Given the description of an element on the screen output the (x, y) to click on. 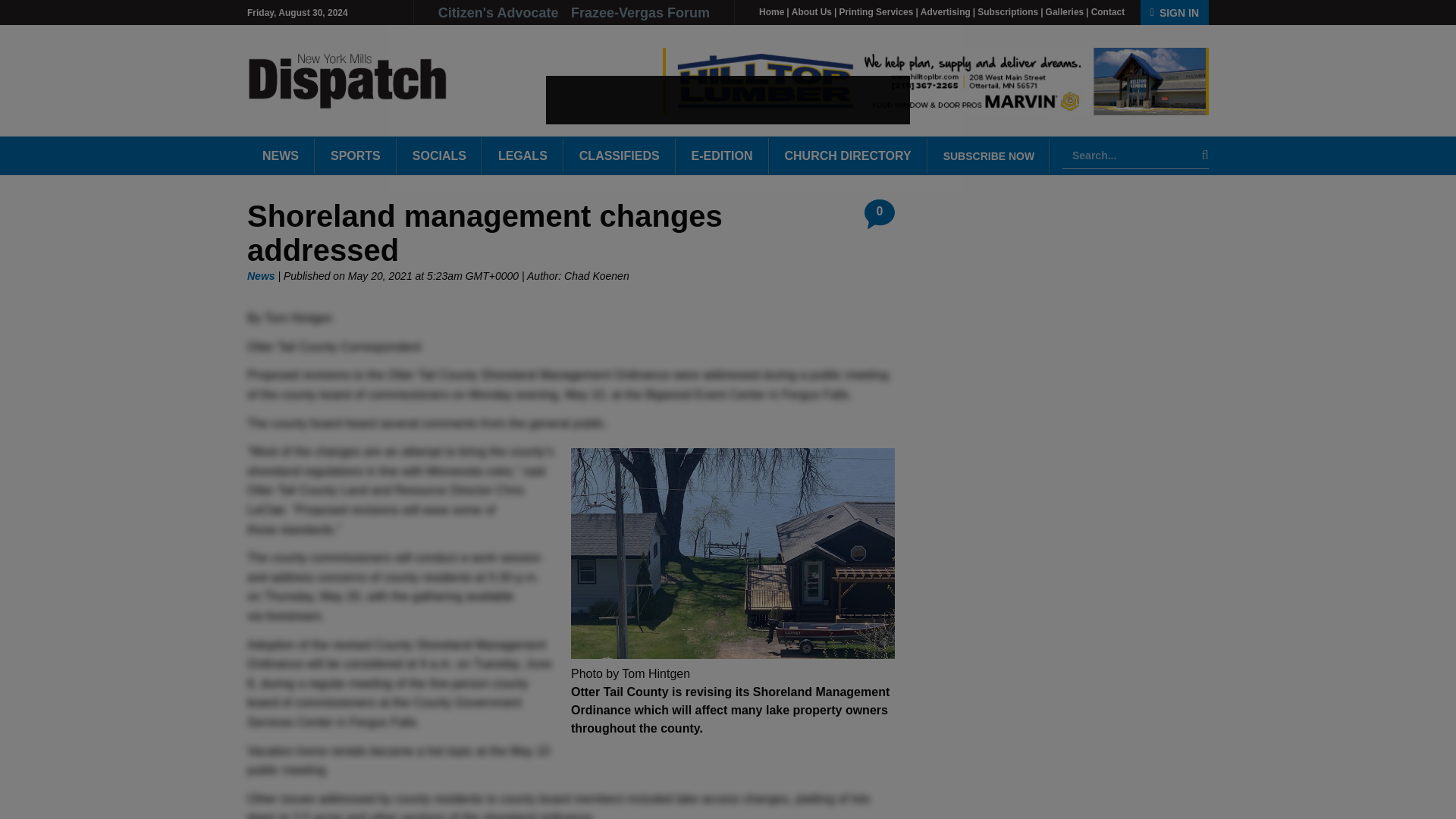
comment2 (879, 214)
SOCIALS (439, 156)
Printing Services (875, 11)
LEGALS (522, 156)
Advertising (945, 11)
News (261, 275)
SUBSCRIBE NOW (989, 155)
Subscriptions (1007, 11)
SIGN IN (1174, 12)
NEWS (280, 156)
